Given the description of an element on the screen output the (x, y) to click on. 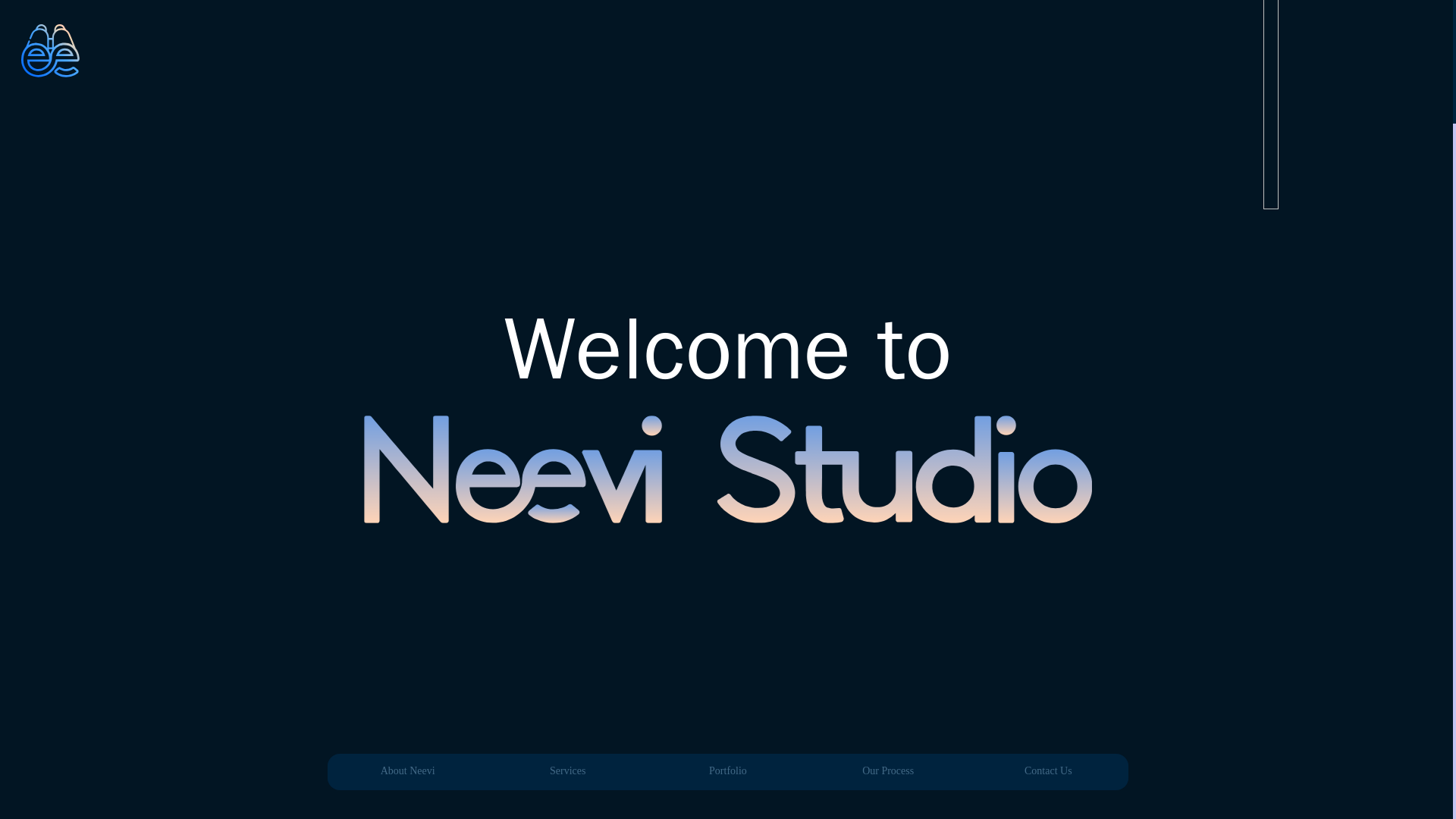
Our Process (888, 771)
Contact Us (1048, 771)
About Neevi (407, 771)
Portfolio (727, 771)
Services (567, 771)
